Given the description of an element on the screen output the (x, y) to click on. 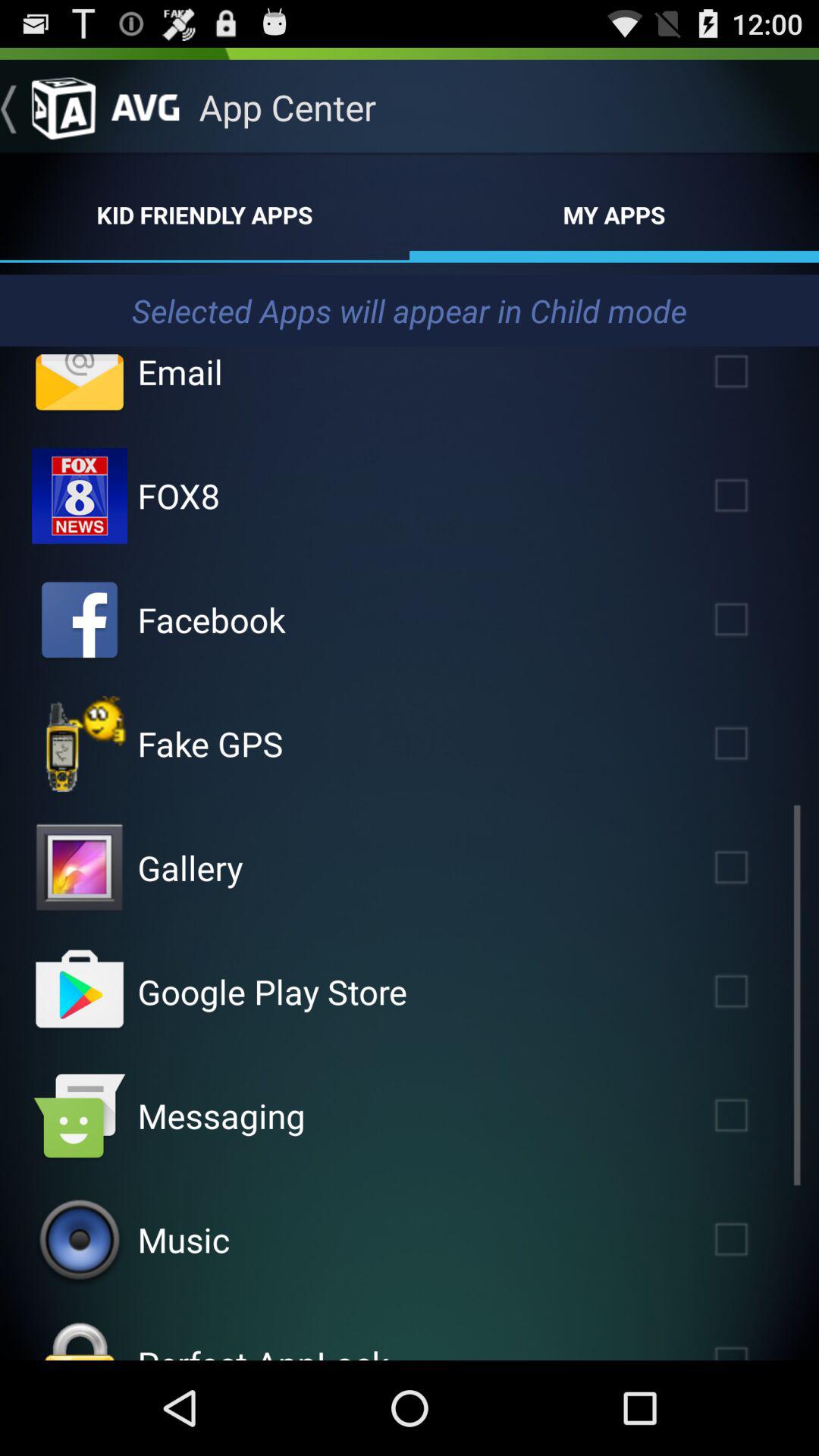
shop at google play store (79, 991)
